Given the description of an element on the screen output the (x, y) to click on. 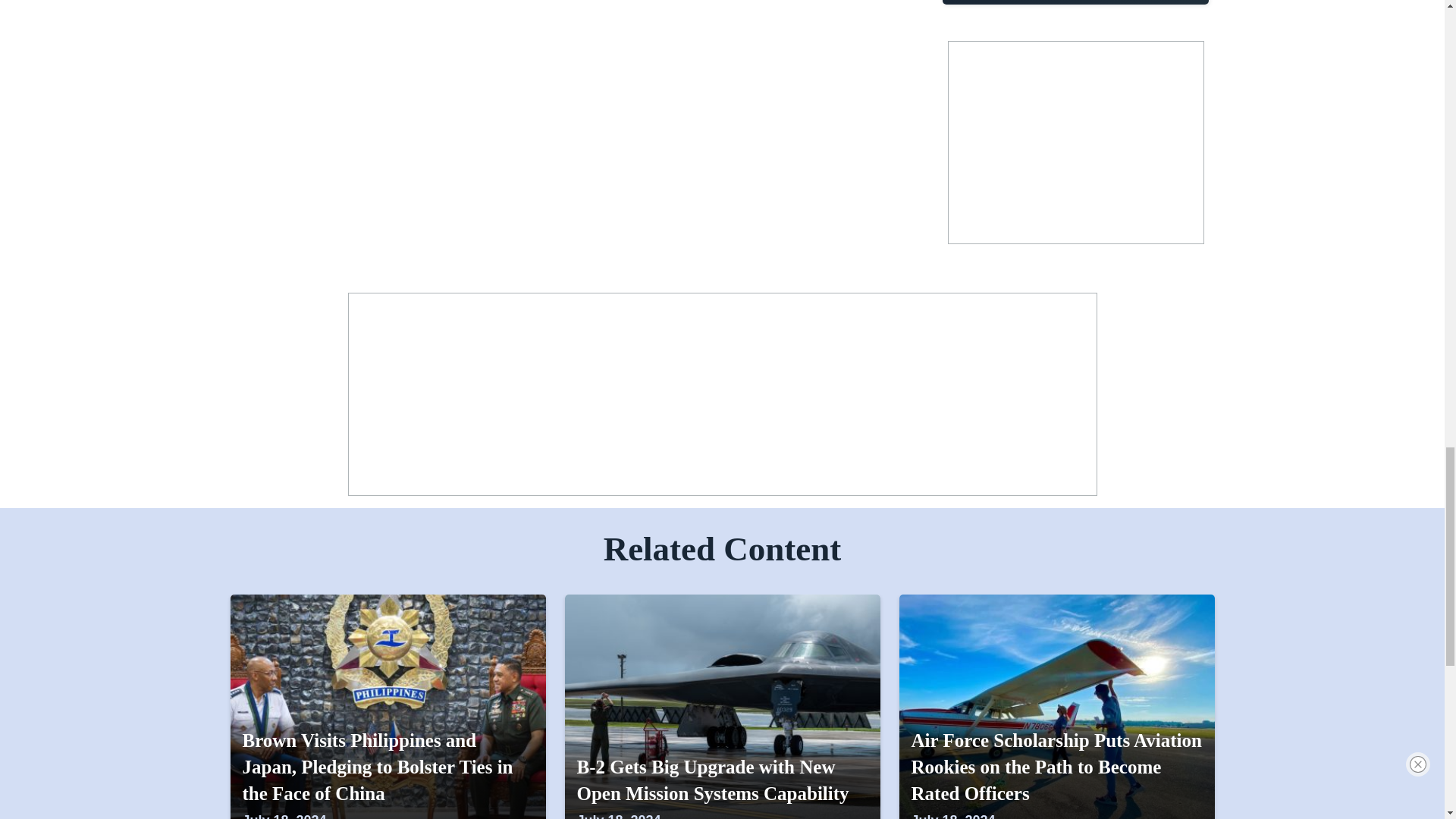
3rd party ad content (1075, 142)
